Given the description of an element on the screen output the (x, y) to click on. 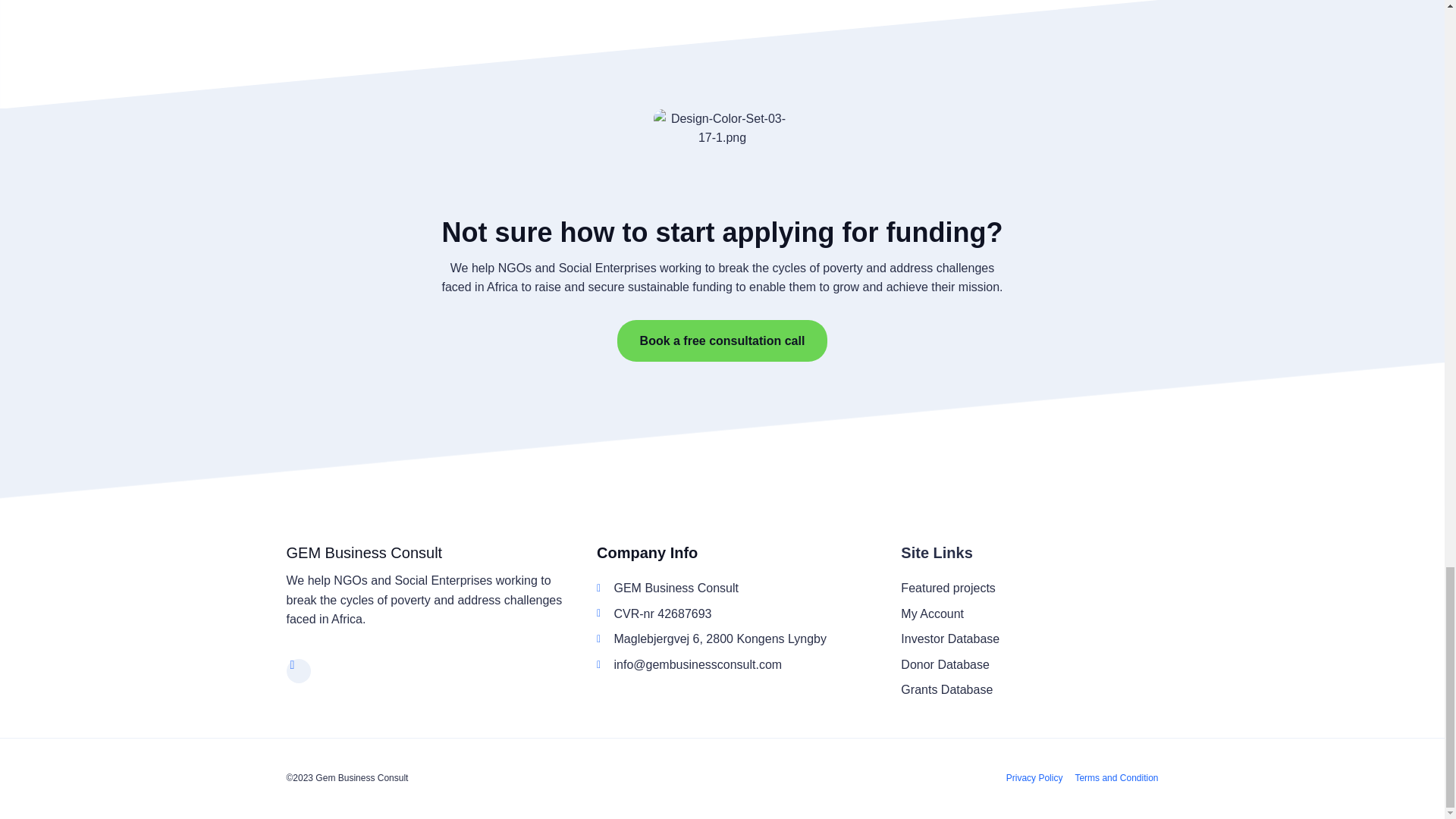
Design-Color-Set-03-17-1.png (722, 158)
GEM Business Consult (364, 552)
Book a free consultation call (722, 341)
Investor Database (1026, 639)
Terms and Condition (1115, 778)
My Account (1026, 614)
Privacy Policy (1034, 778)
Donor Database (1026, 664)
Featured projects (1026, 588)
Grants Database (1026, 690)
